Given the description of an element on the screen output the (x, y) to click on. 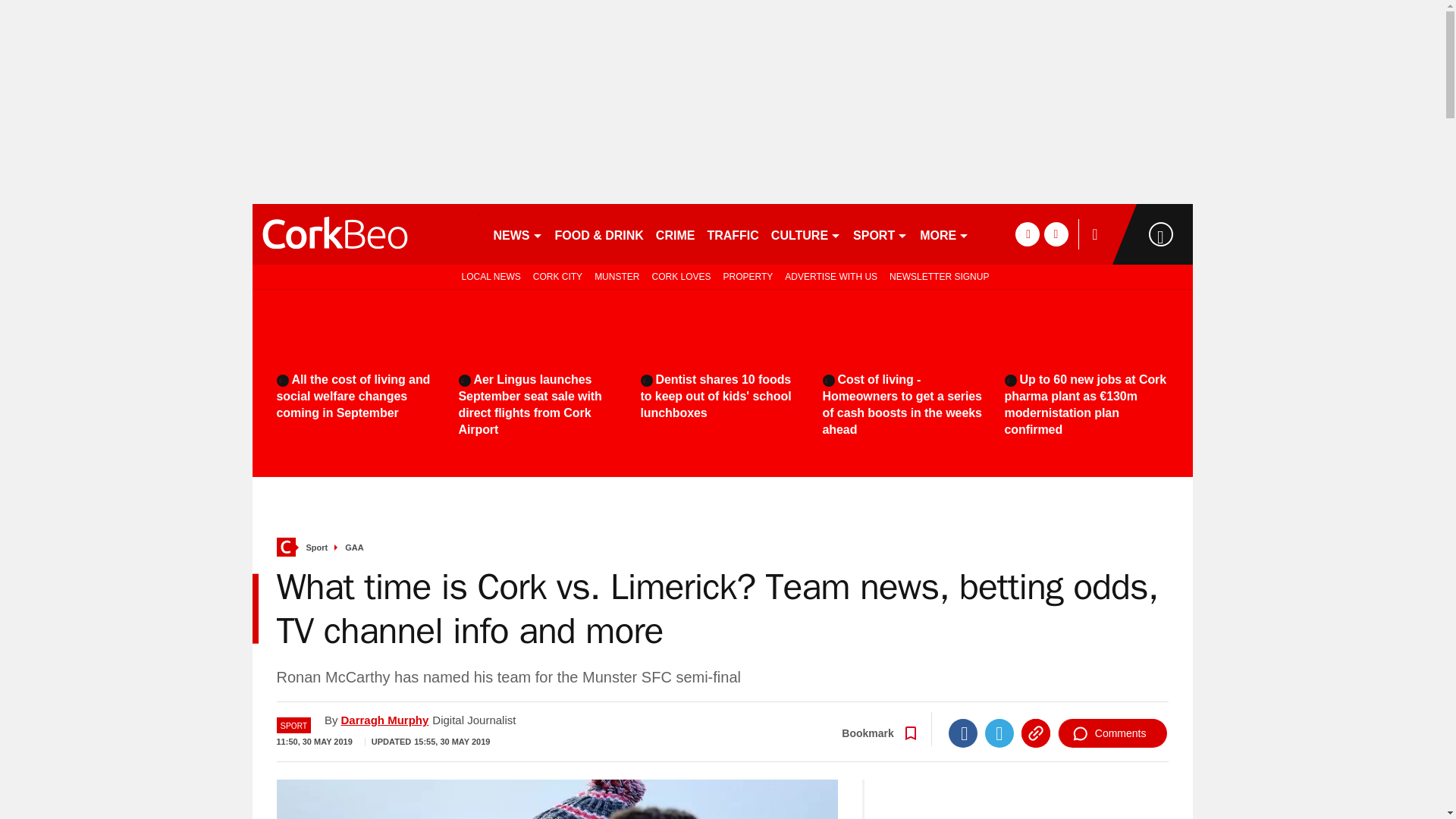
LOCAL NEWS (488, 275)
TRAFFIC (732, 233)
MUNSTER (616, 275)
Facebook (962, 733)
SPORT (880, 233)
CULTURE (806, 233)
facebook (1026, 233)
twitter (1055, 233)
NEWSLETTER SIGNUP (938, 275)
Comments (1112, 733)
